Given the description of an element on the screen output the (x, y) to click on. 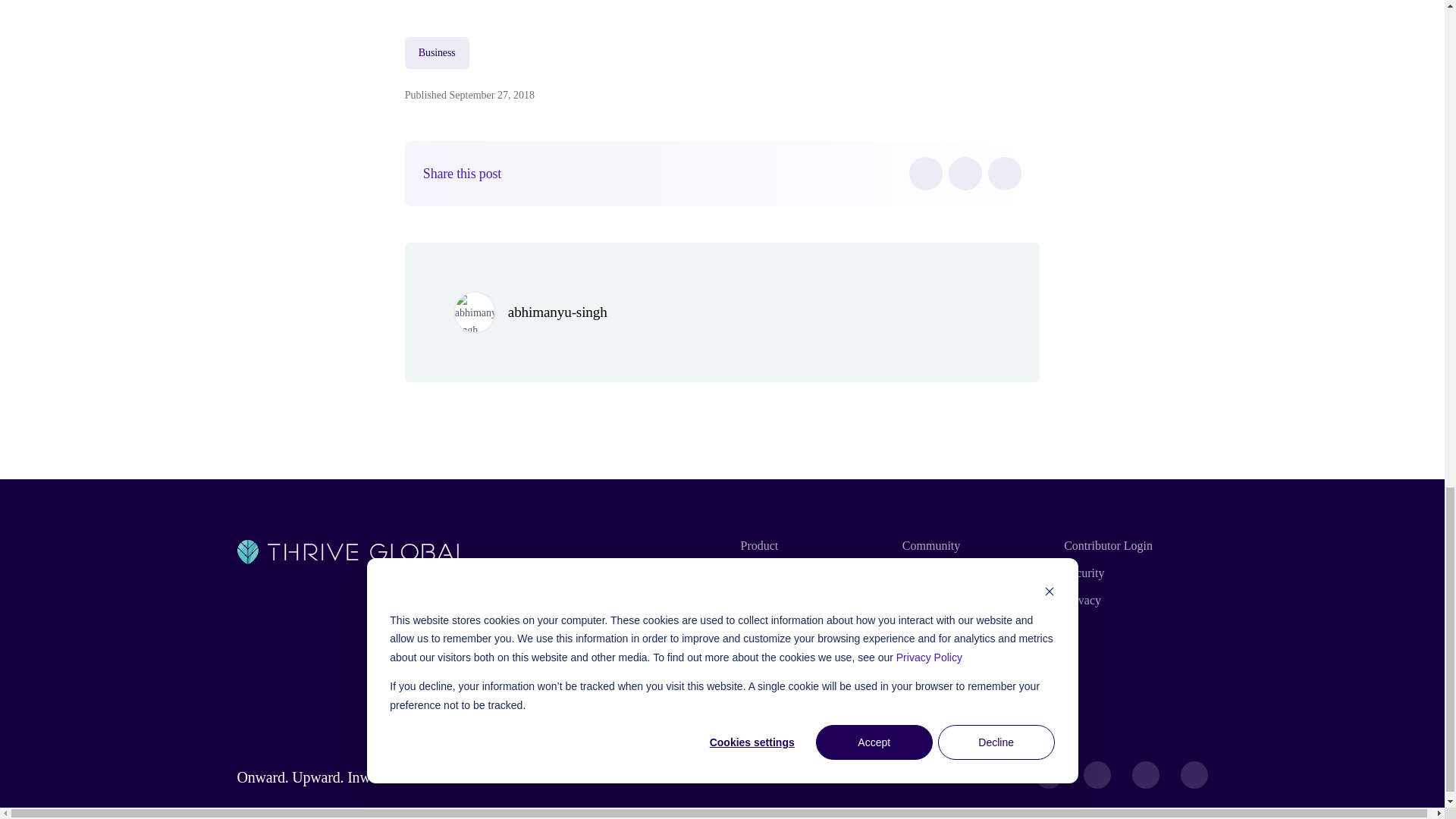
Facebook (925, 173)
abhimanyu-singh (557, 311)
Twitter (965, 173)
LinkedIn (1005, 173)
